Given the description of an element on the screen output the (x, y) to click on. 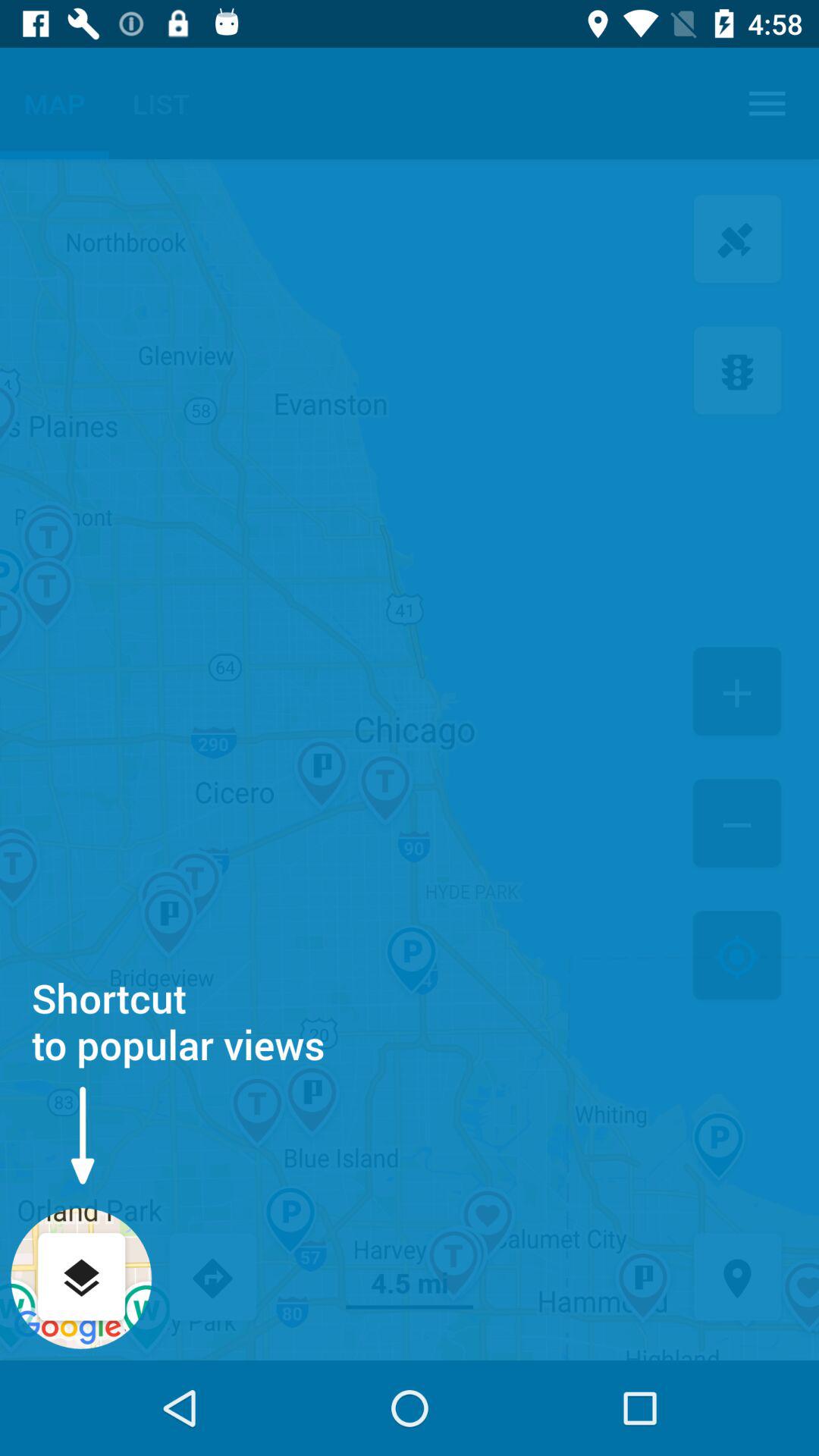
select icon to the right of the shortcut to popular item (737, 957)
